Given the description of an element on the screen output the (x, y) to click on. 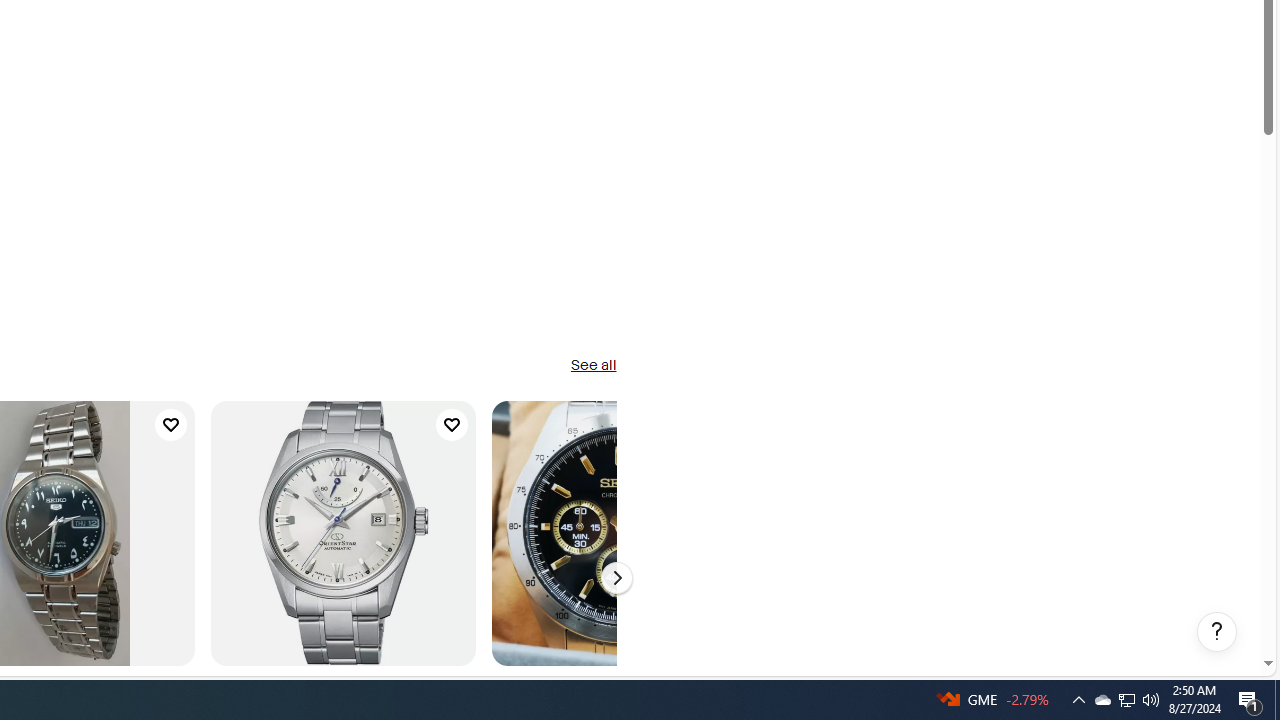
Help, opens dialogs (1217, 632)
Go to the next slide, Wristwatches - Carousel (616, 578)
See all (592, 366)
